Given the description of an element on the screen output the (x, y) to click on. 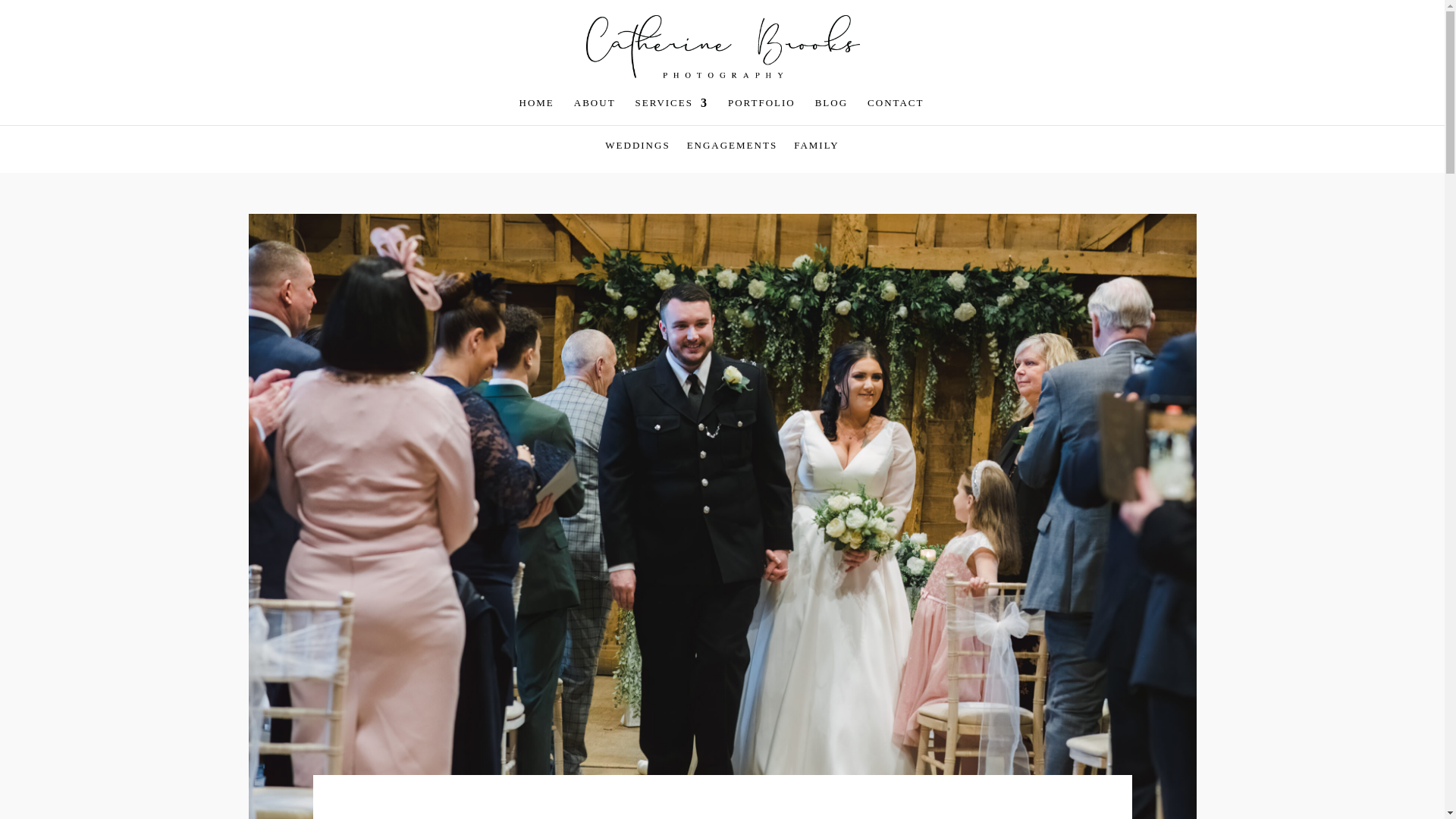
ABOUT (594, 111)
PORTFOLIO (761, 111)
ENGAGEMENTS (732, 156)
WEDDINGS (637, 156)
BLOG (831, 111)
FAMILY (816, 156)
HOME (536, 111)
CONTACT (895, 111)
SERVICES (670, 111)
